Given the description of an element on the screen output the (x, y) to click on. 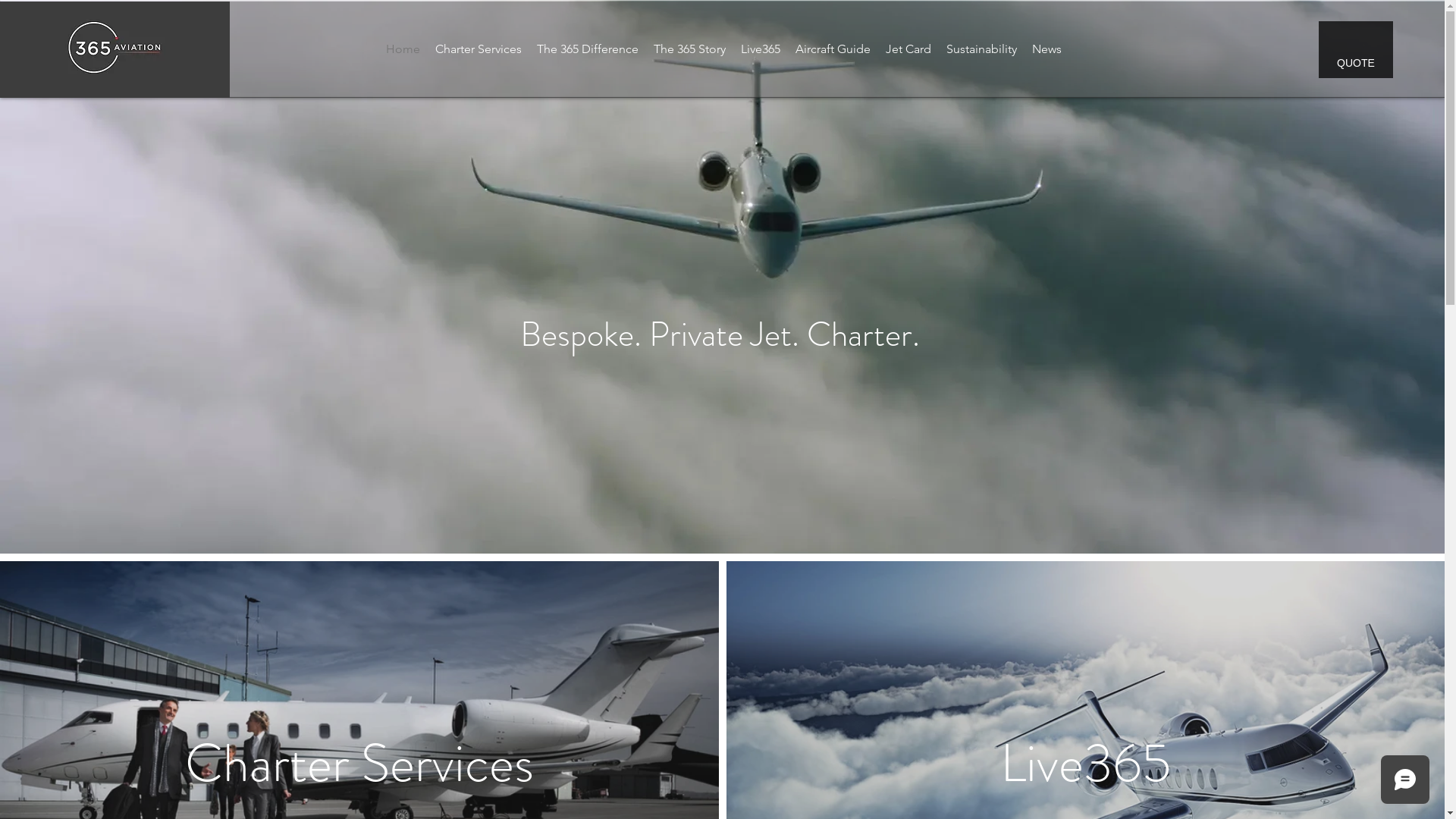
The 365 Difference Element type: text (587, 49)
Jet Card Element type: text (908, 49)
Charter Services Element type: text (478, 49)
Aircraft Guide Element type: text (832, 49)
The 365 Story Element type: text (689, 49)
News Element type: text (1046, 49)
Home Element type: text (402, 49)
Live365 Element type: text (760, 49)
Sustainability Element type: text (981, 49)
QUOTE Element type: text (1355, 49)
